Given the description of an element on the screen output the (x, y) to click on. 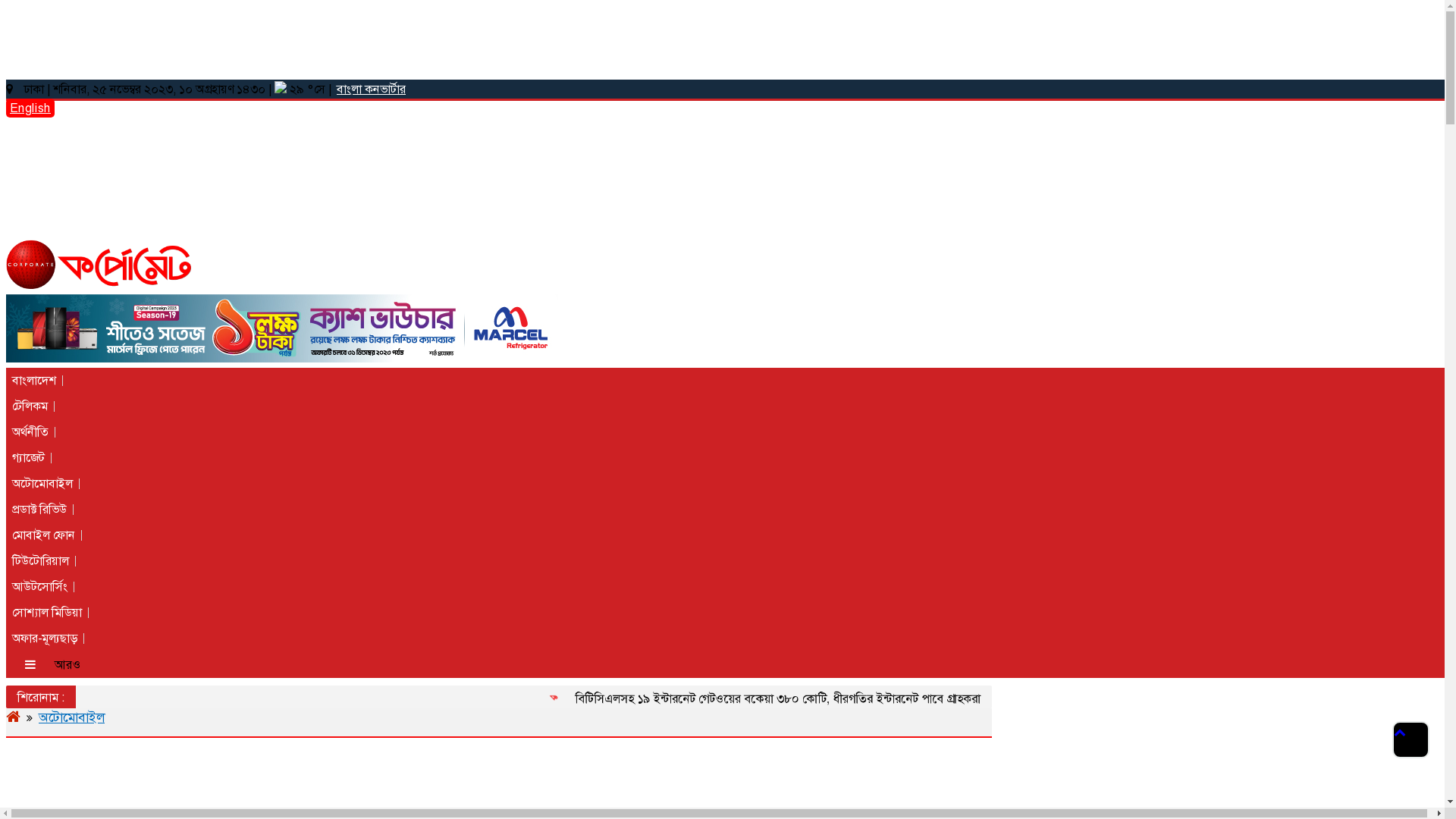
Advertisement Element type: hover (282, 779)
Advertisement Element type: hover (373, 40)
English Element type: text (30, 107)
